Given the description of an element on the screen output the (x, y) to click on. 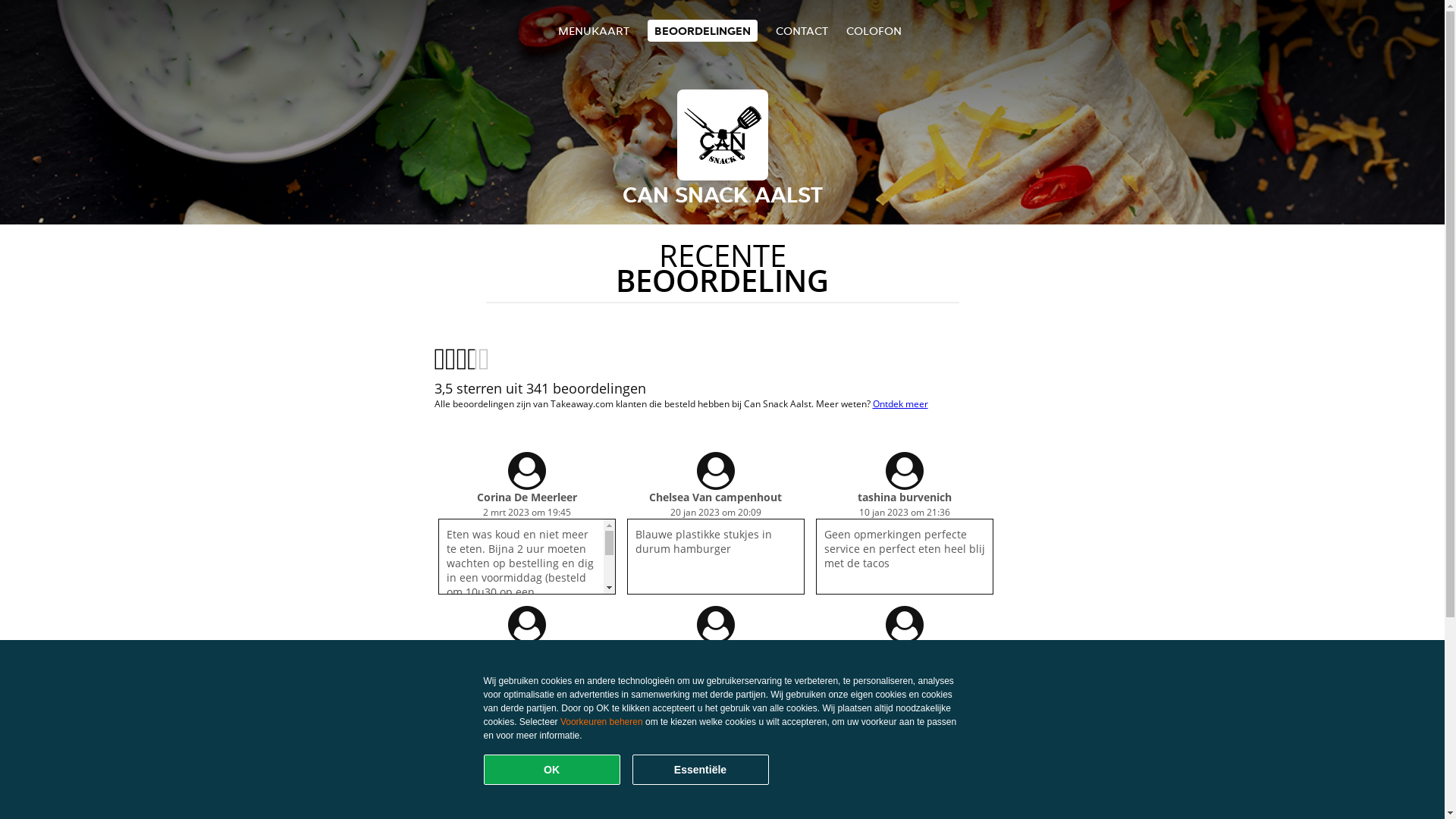
COLOFON Element type: text (873, 30)
Ontdek meer Element type: text (899, 403)
MENUKAART Element type: text (593, 30)
BEOORDELINGEN Element type: text (702, 30)
CONTACT Element type: text (801, 30)
OK Element type: text (551, 769)
Voorkeuren beheren Element type: text (601, 721)
